Given the description of an element on the screen output the (x, y) to click on. 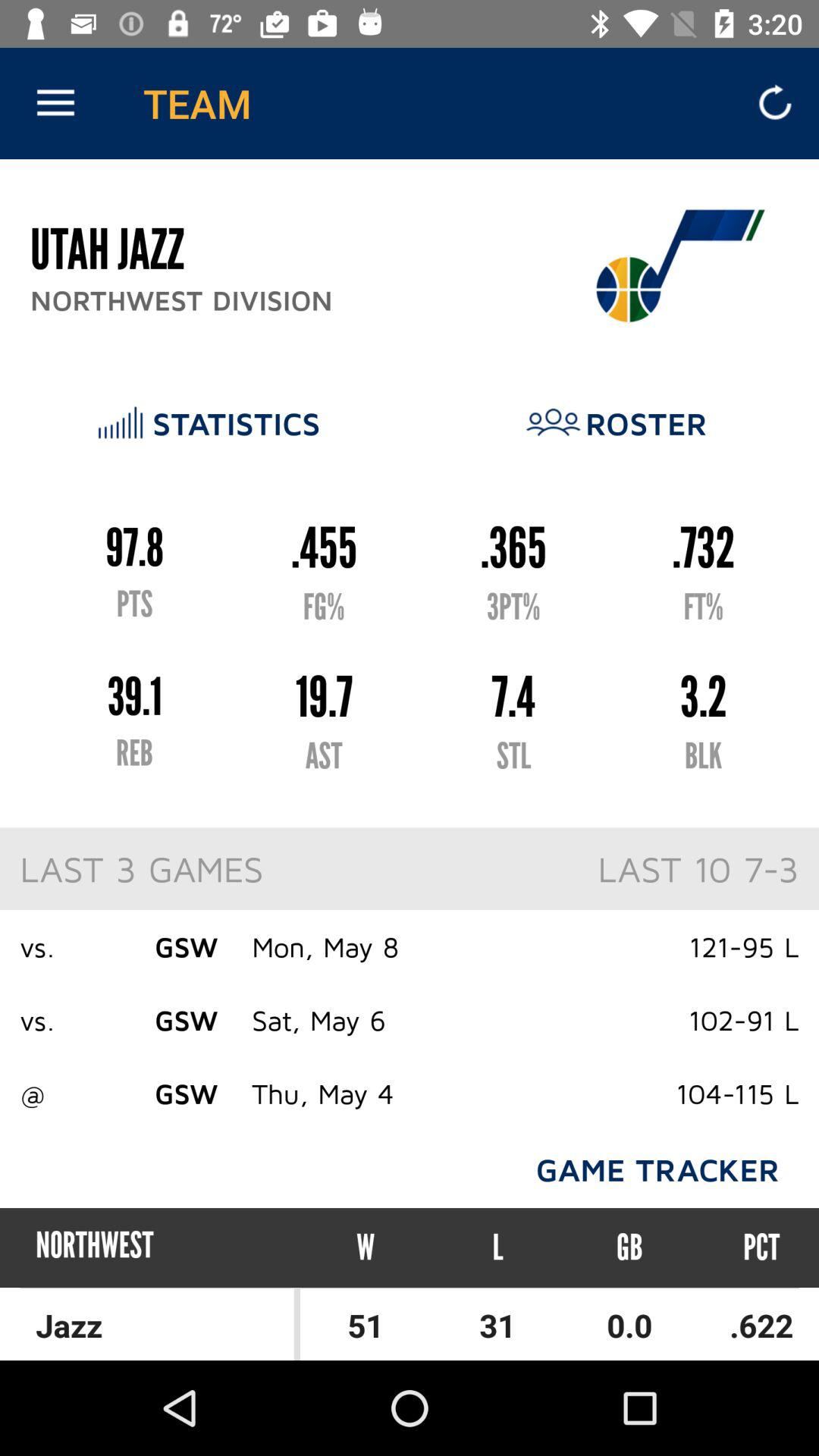
launch item to the left of team icon (55, 103)
